Given the description of an element on the screen output the (x, y) to click on. 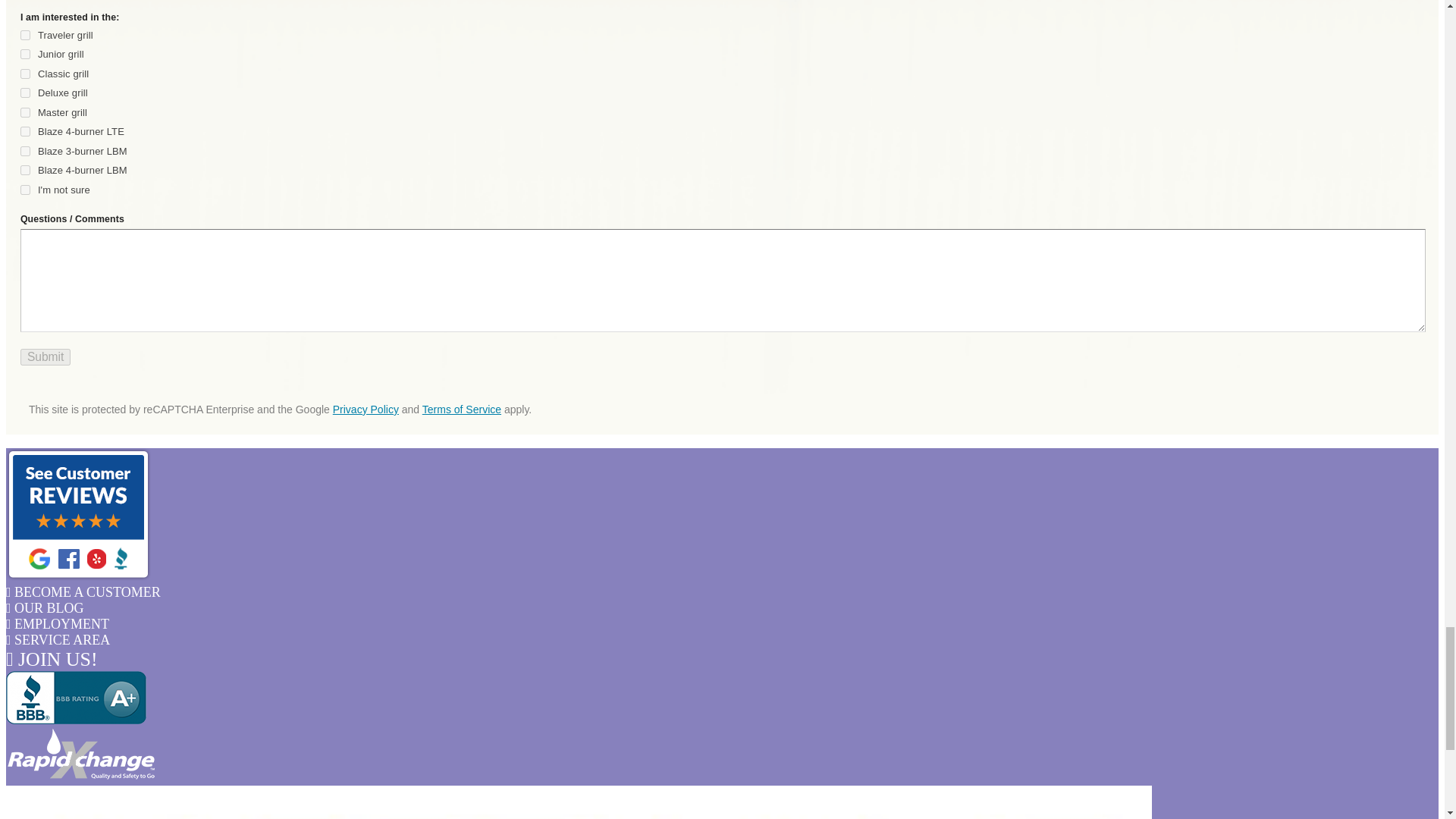
our blog (44, 607)
join us on facebook (51, 659)
review buzz (78, 575)
service area (57, 639)
become a customer (82, 591)
employment (57, 623)
